Given the description of an element on the screen output the (x, y) to click on. 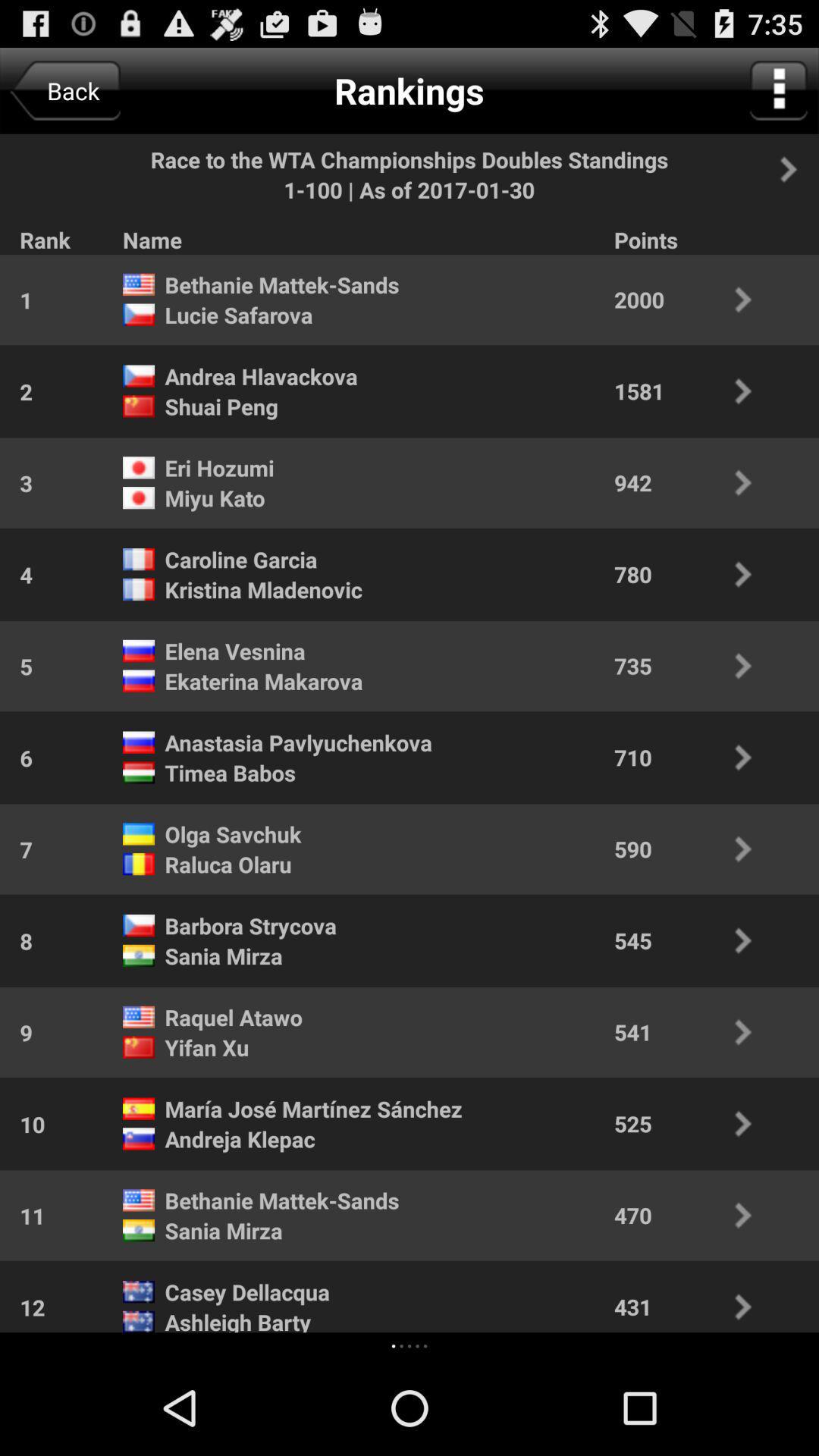
going to next page (797, 169)
